Given the description of an element on the screen output the (x, y) to click on. 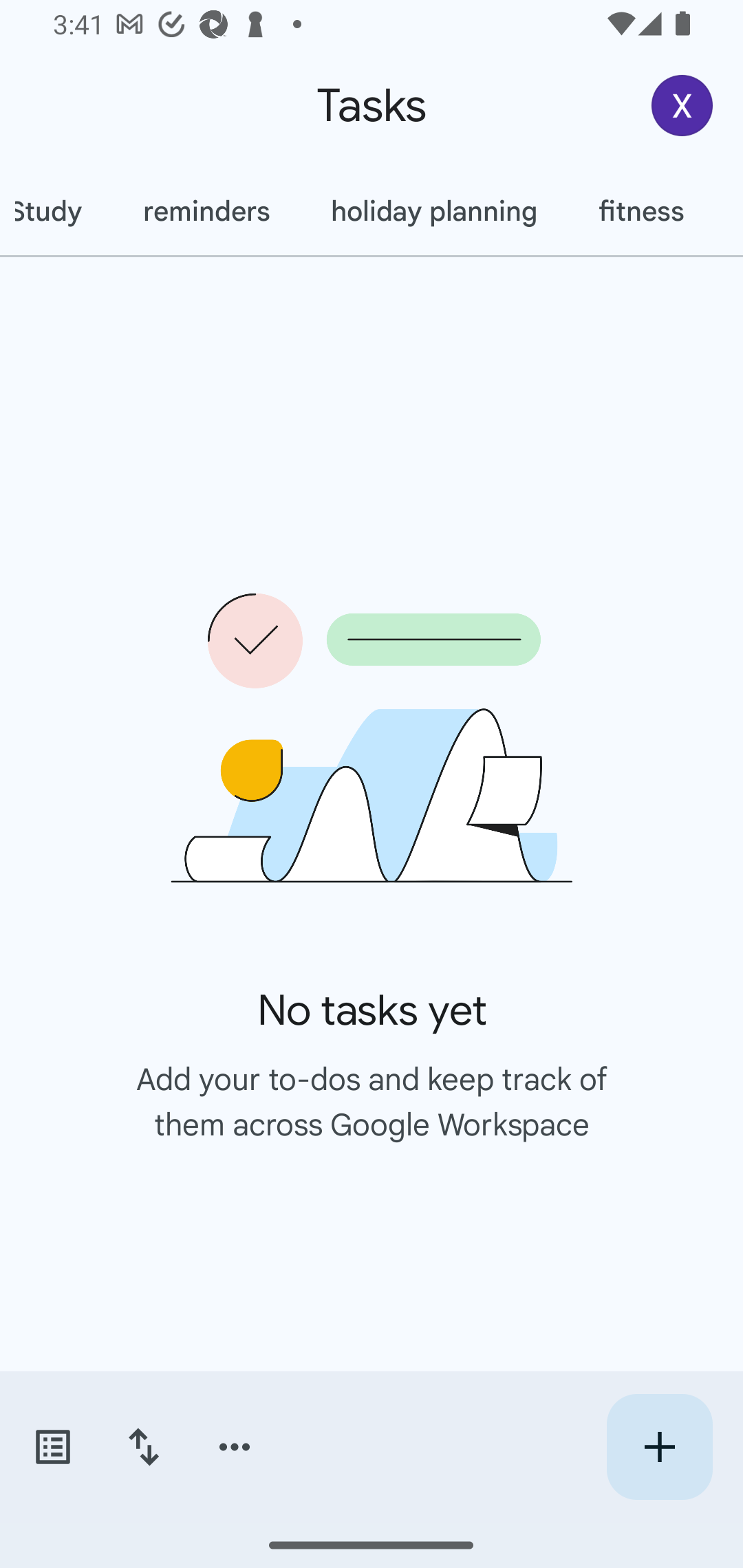
Study (56, 211)
reminders (206, 211)
holiday planning (433, 211)
fitness (640, 211)
Switch task lists (52, 1447)
Create new task (659, 1446)
Change sort order (143, 1446)
More options (234, 1446)
